Given the description of an element on the screen output the (x, y) to click on. 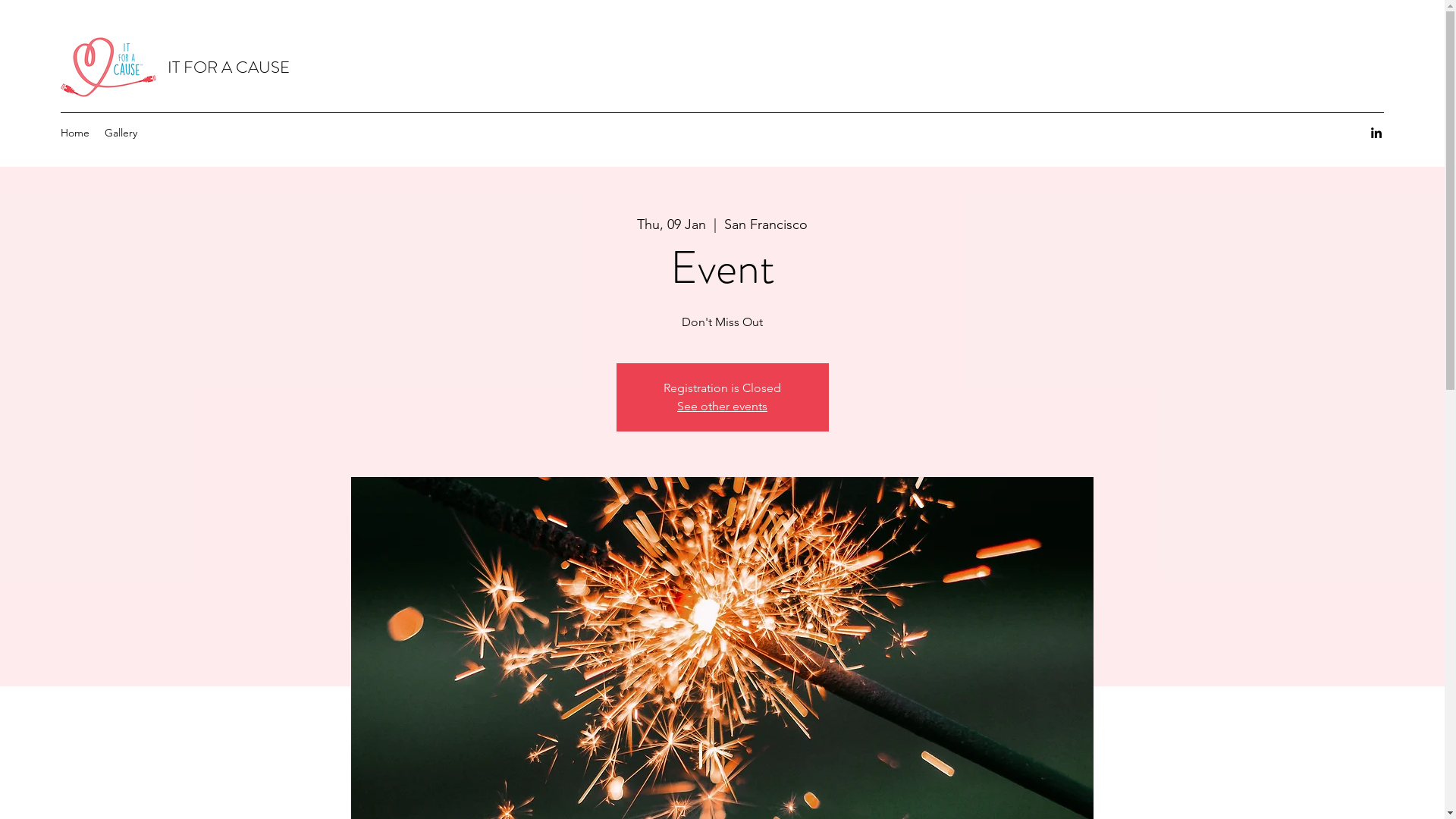
Home Element type: text (75, 132)
IT FOR A CAUSE Element type: text (228, 66)
Gallery Element type: text (120, 132)
See other events Element type: text (722, 405)
